Given the description of an element on the screen output the (x, y) to click on. 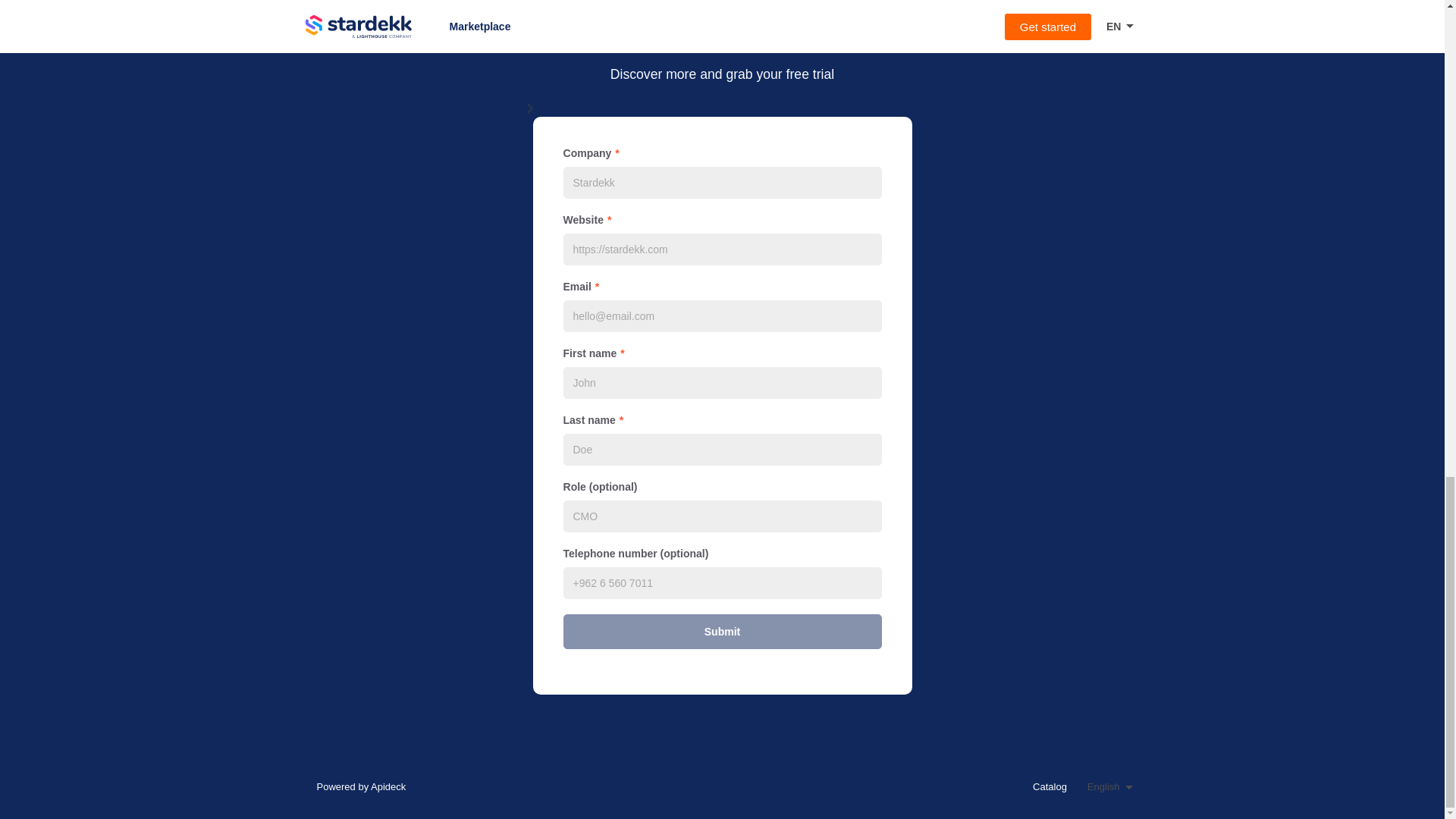
Powered by Apideck (356, 786)
Submit (721, 631)
Catalog (1046, 786)
